Given the description of an element on the screen output the (x, y) to click on. 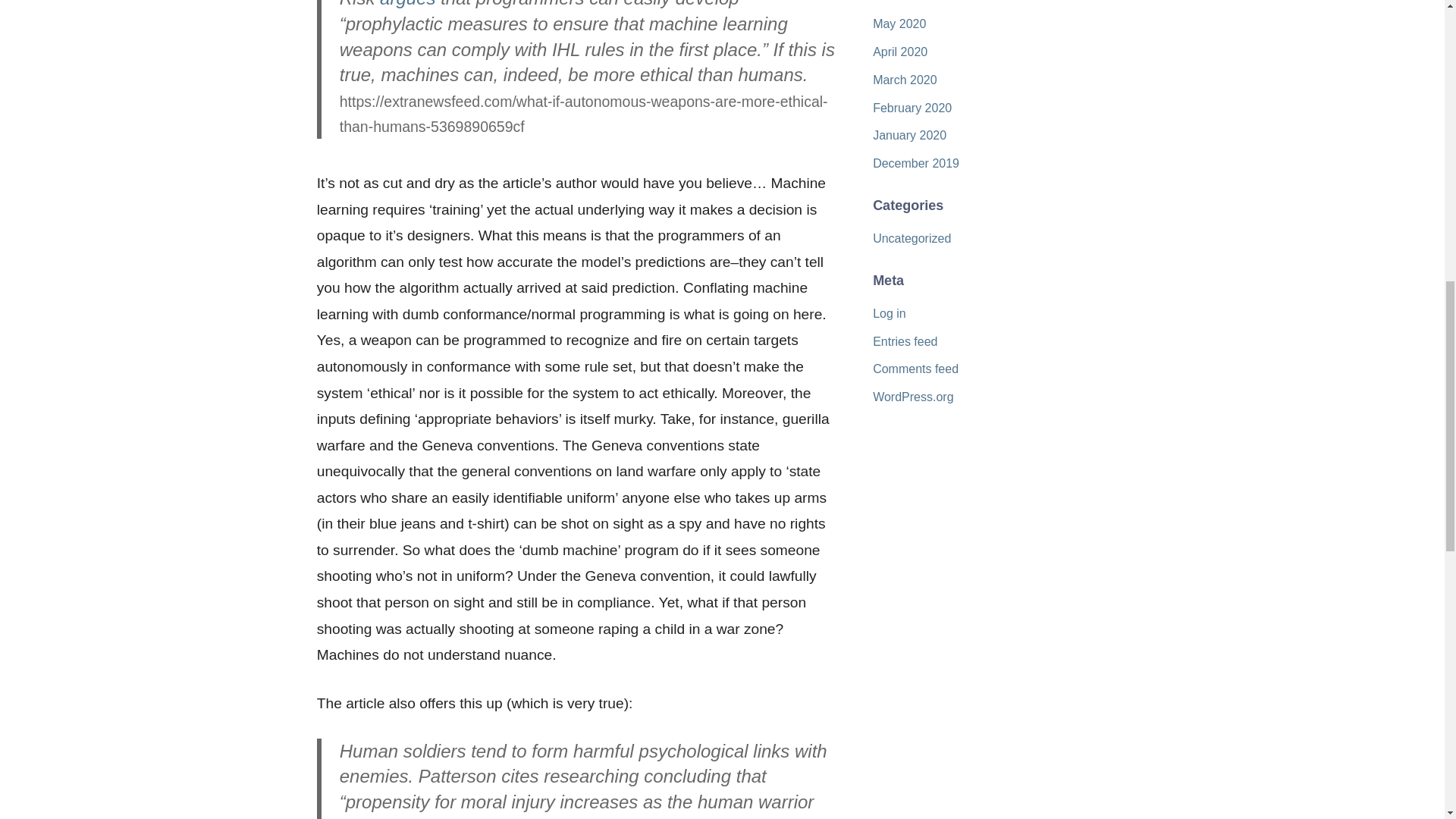
June 2020 (901, 1)
Uncategorized (911, 237)
December 2019 (915, 163)
February 2020 (912, 107)
argues (407, 4)
March 2020 (904, 79)
January 2020 (909, 134)
April 2020 (899, 51)
May 2020 (899, 23)
